Given the description of an element on the screen output the (x, y) to click on. 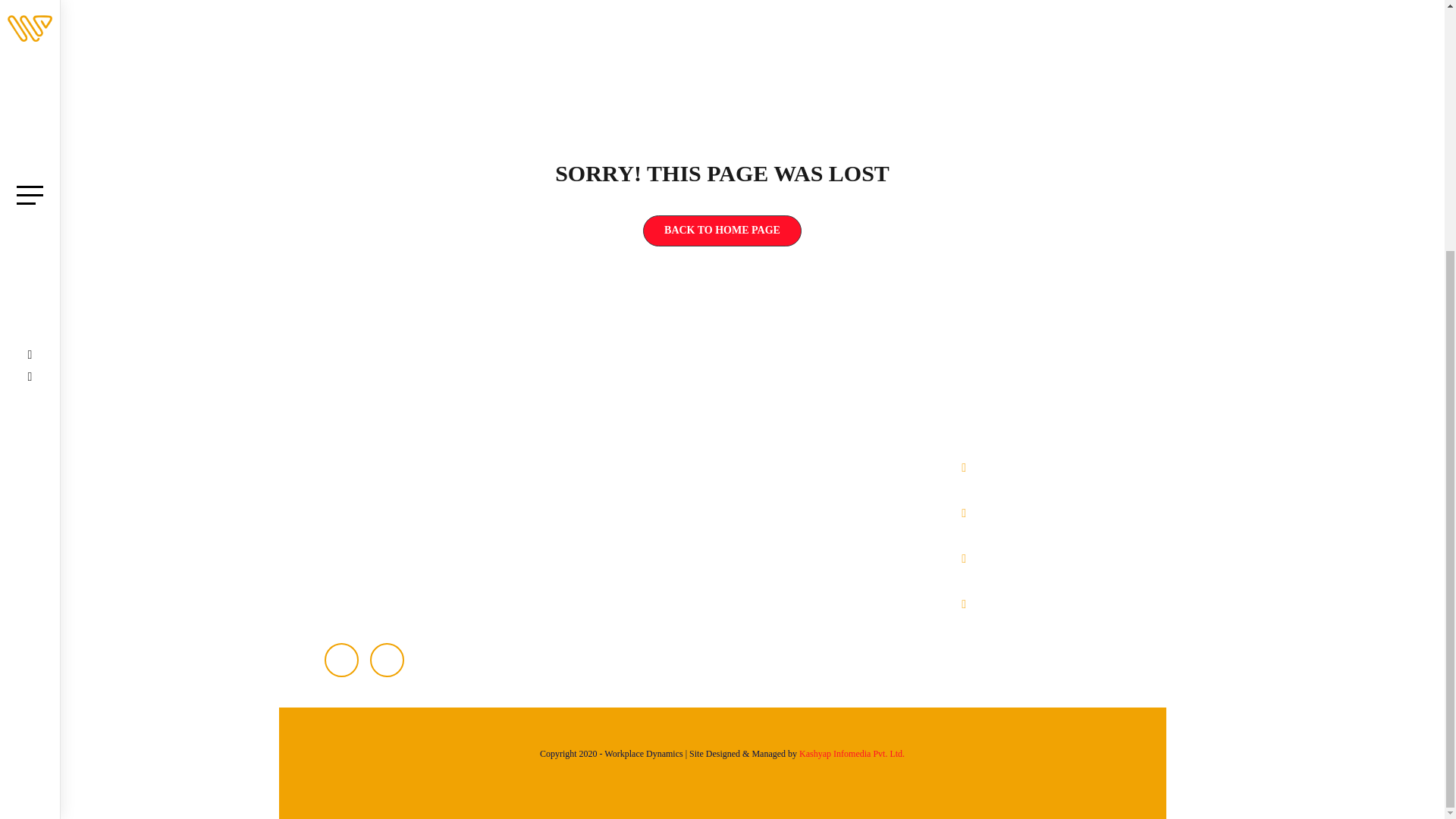
About the Founder (629, 499)
Home (600, 469)
Advisory and Consulting Services (830, 469)
Blogs (599, 621)
Our Principal Consultants (645, 590)
Executive and Team Coaching (821, 499)
BACK TO HOME PAGE (722, 230)
Why Us (605, 530)
Leadership Development (809, 530)
Capability Building (797, 560)
